Given the description of an element on the screen output the (x, y) to click on. 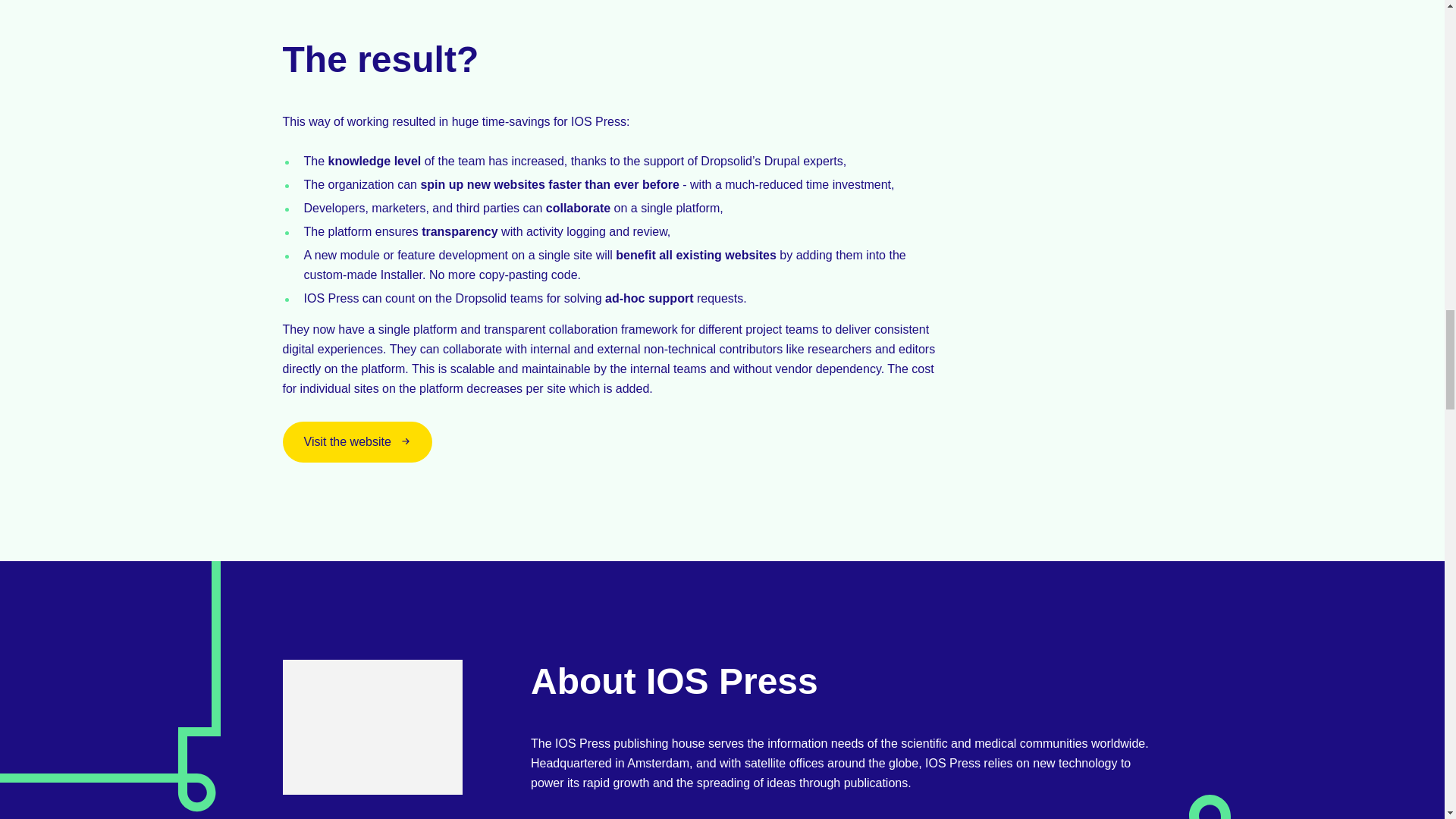
Visit the website (357, 441)
